Given the description of an element on the screen output the (x, y) to click on. 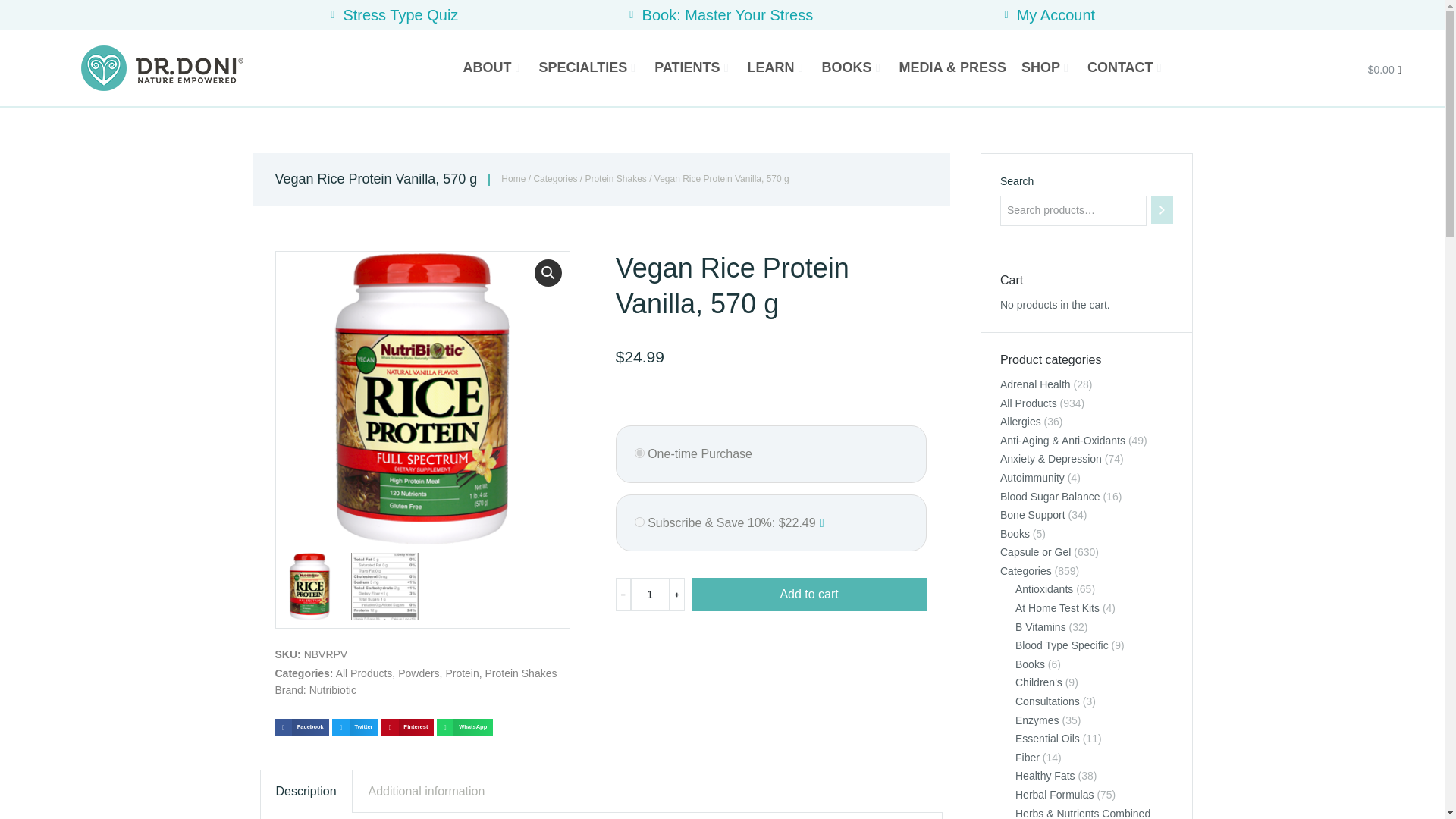
no (639, 452)
Vegan Rice Protein Vanilla, 570 g (422, 398)
My Account (1046, 15)
Stress Type Quiz (391, 15)
yes (639, 521)
LEARN (777, 67)
ABOUT (493, 67)
1 (649, 594)
LEARN (777, 67)
PATIENTS (692, 67)
SPECIALTIES (589, 67)
Book: Master Your Stress (719, 15)
